Given the description of an element on the screen output the (x, y) to click on. 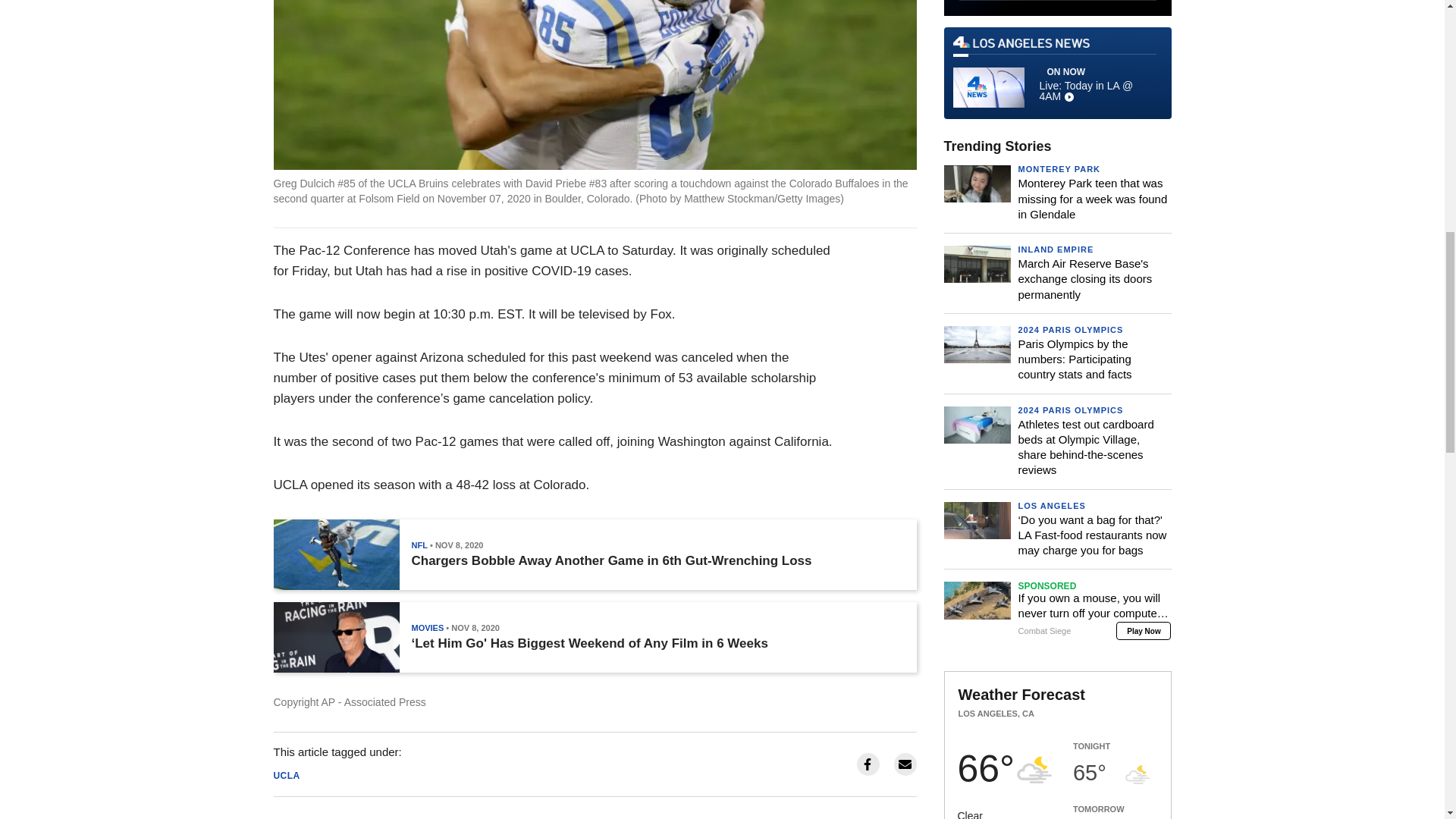
NFL (418, 544)
UCLA (286, 775)
MOVIES (427, 627)
Chargers Bobble Away Another Game in 6th Gut-Wrenching Loss (610, 560)
